Given the description of an element on the screen output the (x, y) to click on. 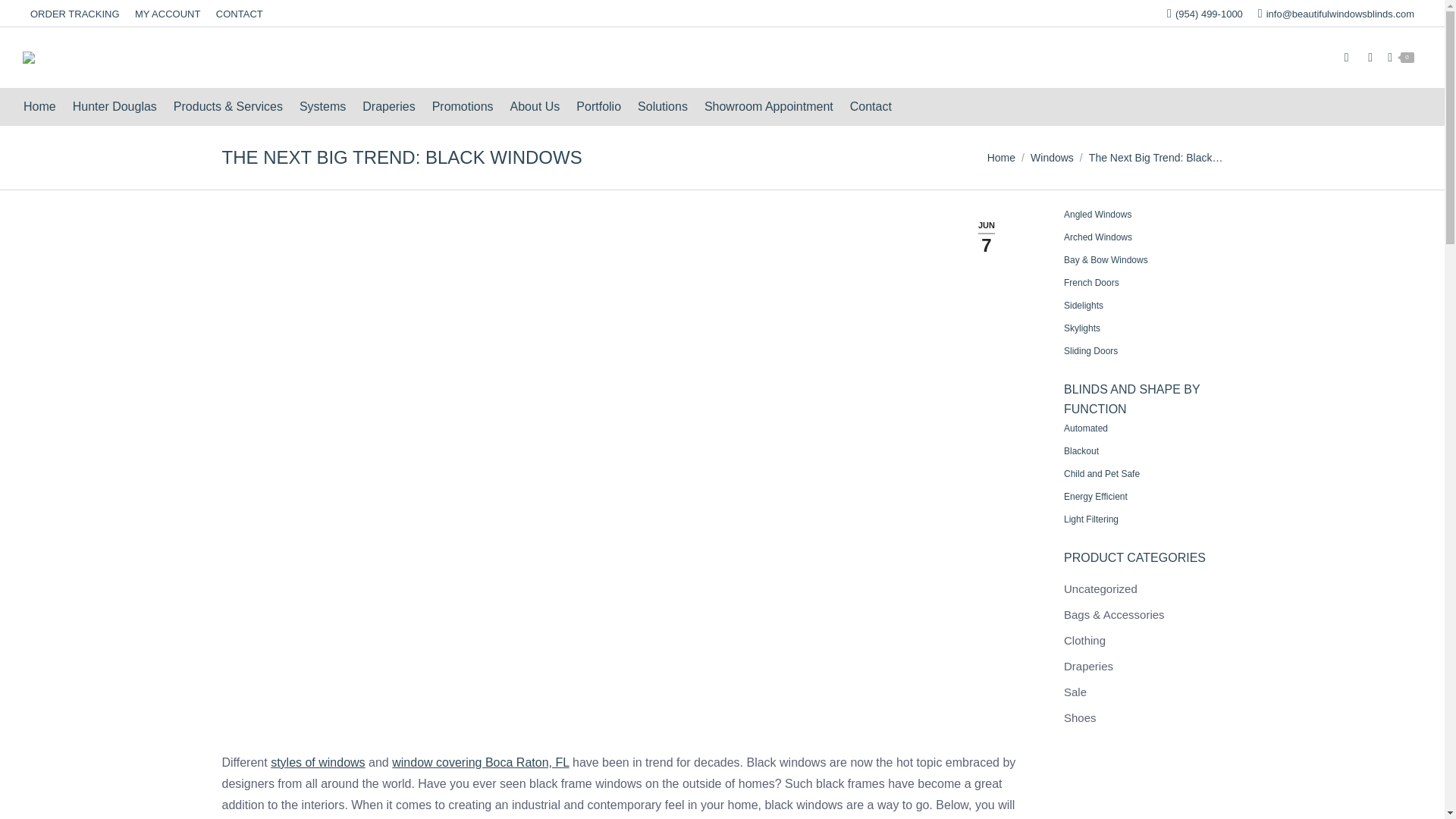
Hunter Douglas (114, 106)
MY ACCOUNT (167, 12)
ORDER TRACKING (74, 12)
CONTACT (239, 12)
Go! (24, 16)
 0 (1400, 57)
Home (39, 106)
11:21 am (986, 236)
